Given the description of an element on the screen output the (x, y) to click on. 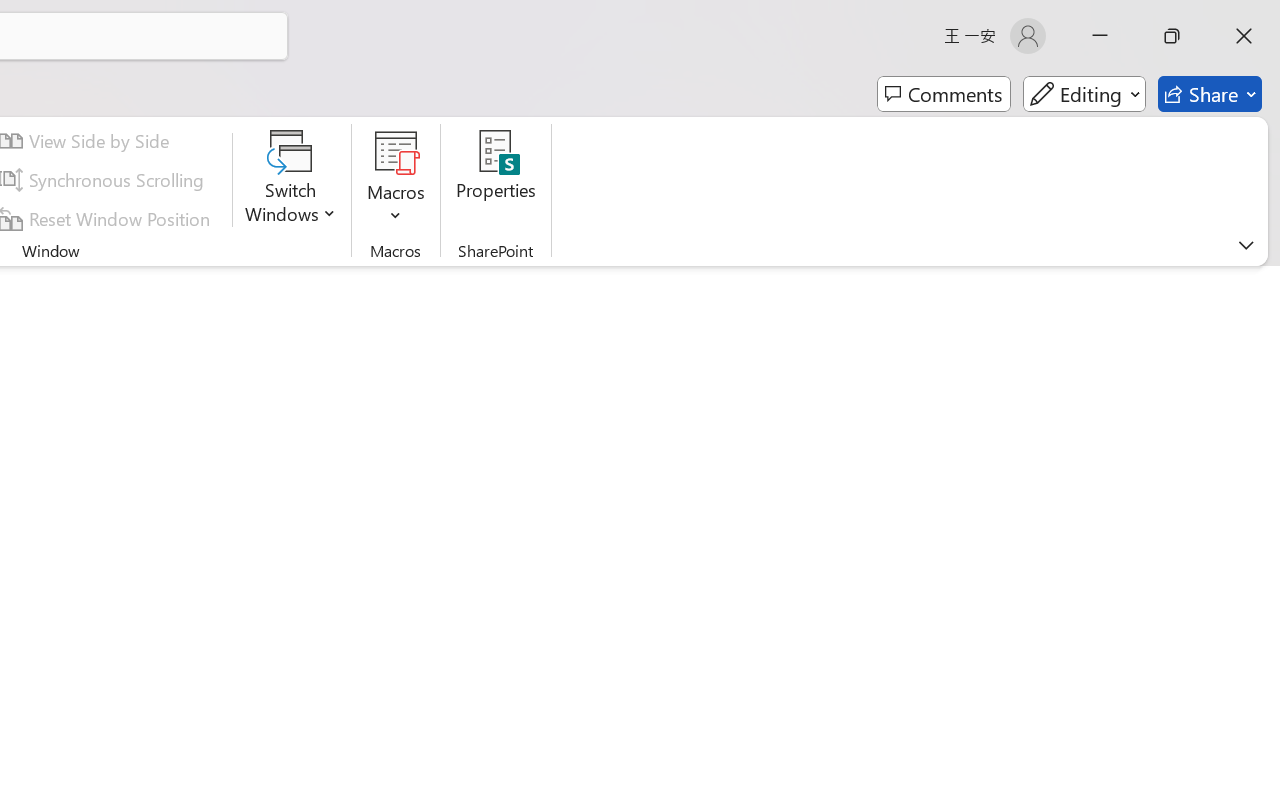
Properties (496, 179)
Macros (395, 179)
Switch Windows (290, 179)
Ribbon Display Options (1246, 245)
View Macros (395, 151)
Comments (943, 94)
Mode (1083, 94)
